Given the description of an element on the screen output the (x, y) to click on. 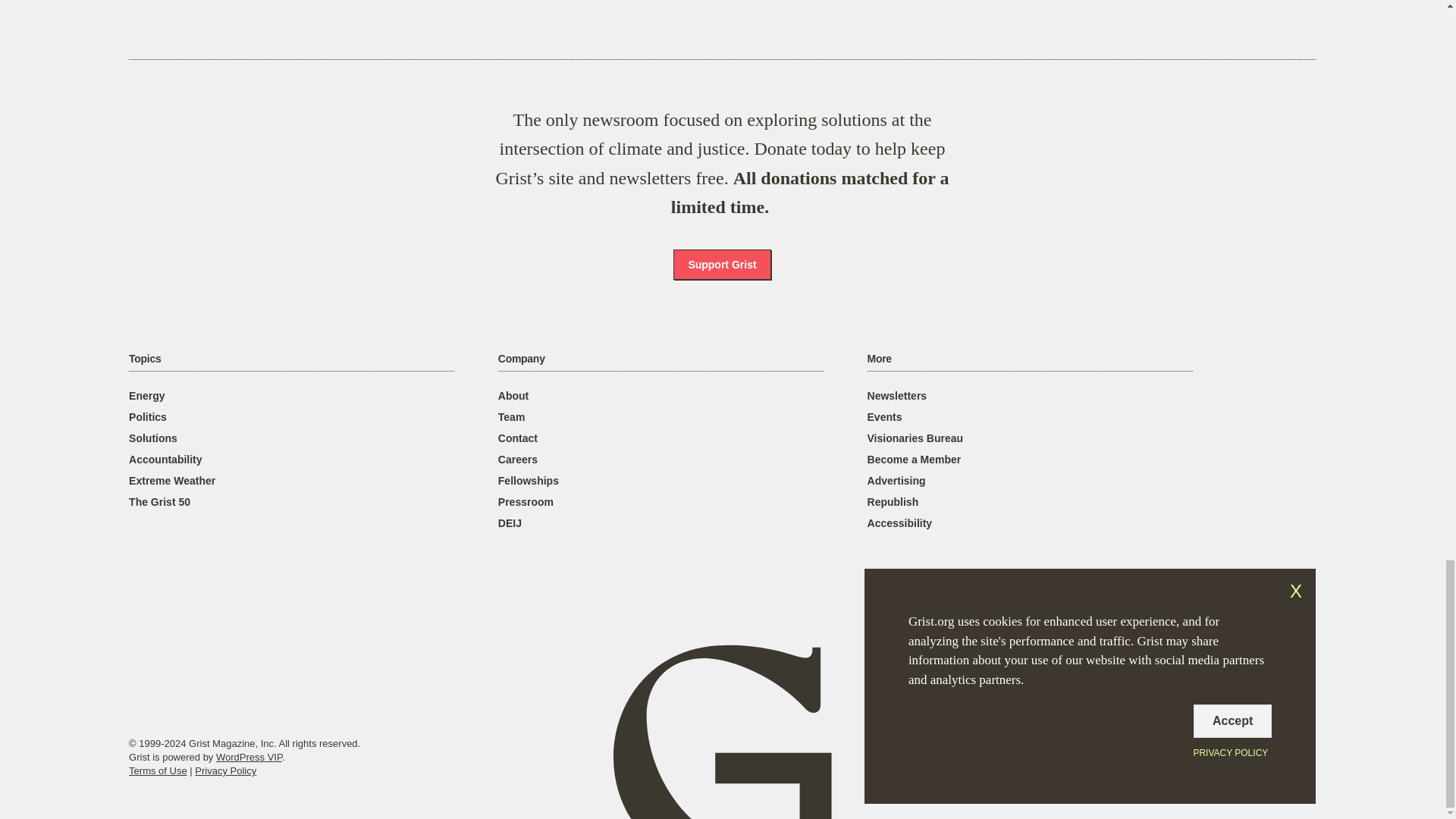
More (879, 358)
Topics (144, 358)
Company (520, 358)
